Given the description of an element on the screen output the (x, y) to click on. 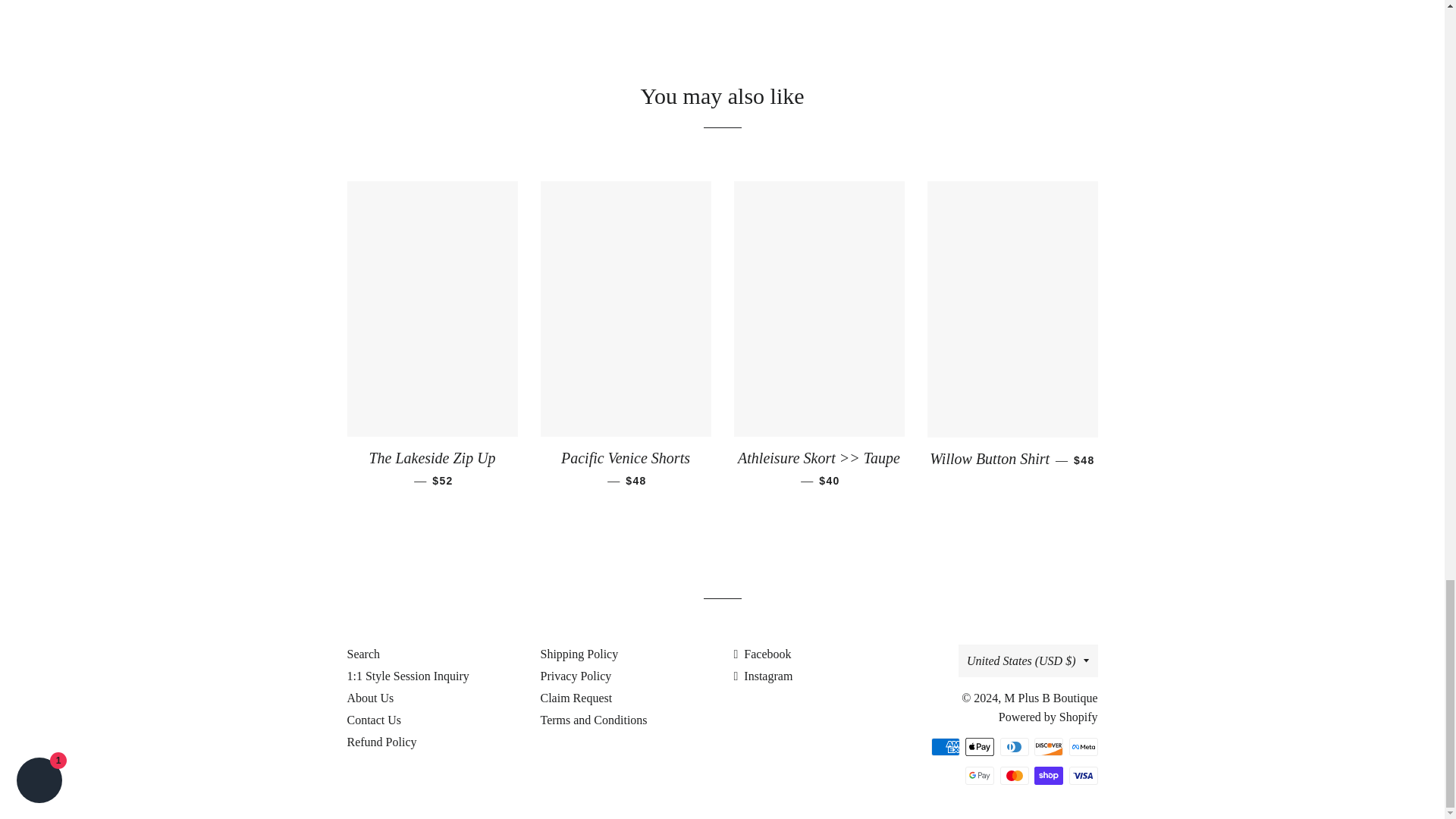
Mastercard (1012, 775)
Visa (1082, 775)
Discover (1047, 746)
American Express (945, 746)
Apple Pay (979, 746)
M Plus B Boutique  on Facebook (762, 653)
Shop Pay (1047, 775)
Diners Club (1012, 746)
Meta Pay (1082, 746)
M Plus B Boutique  on Instagram (763, 675)
Google Pay (979, 775)
